Given the description of an element on the screen output the (x, y) to click on. 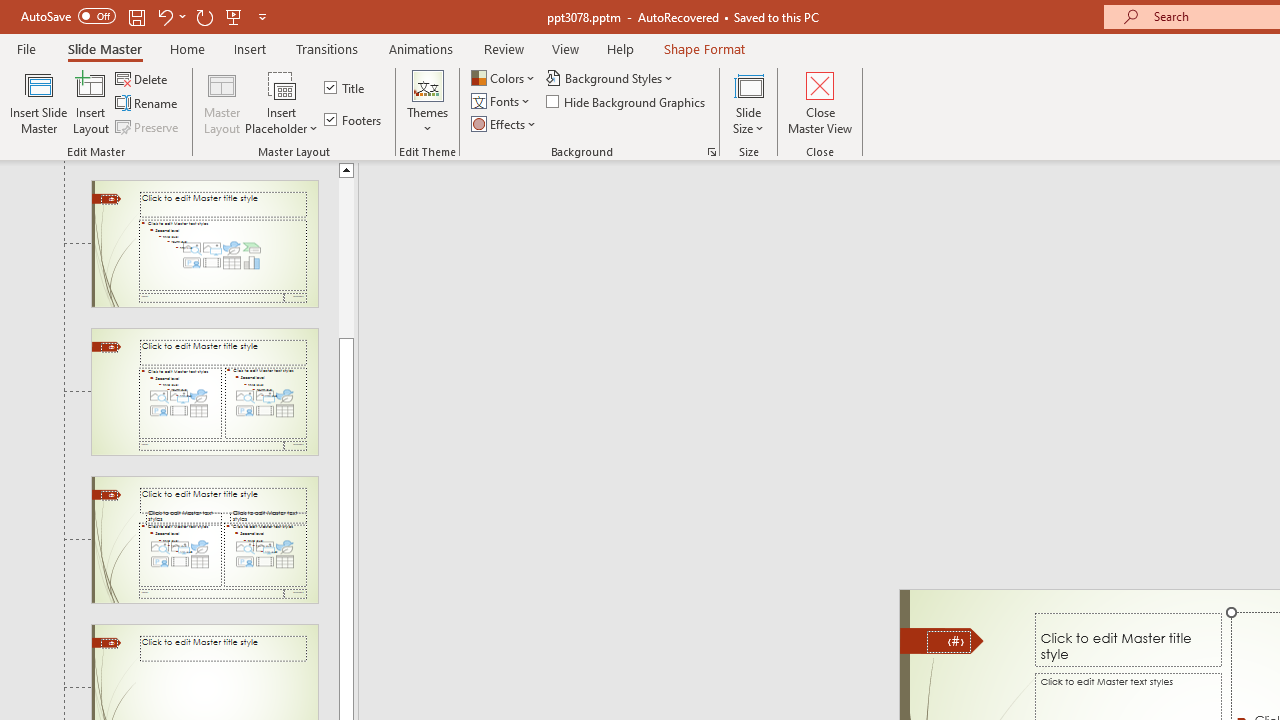
Animations (420, 48)
AutoSave (68, 16)
More Options (282, 121)
Format Background... (711, 151)
